Given the description of an element on the screen output the (x, y) to click on. 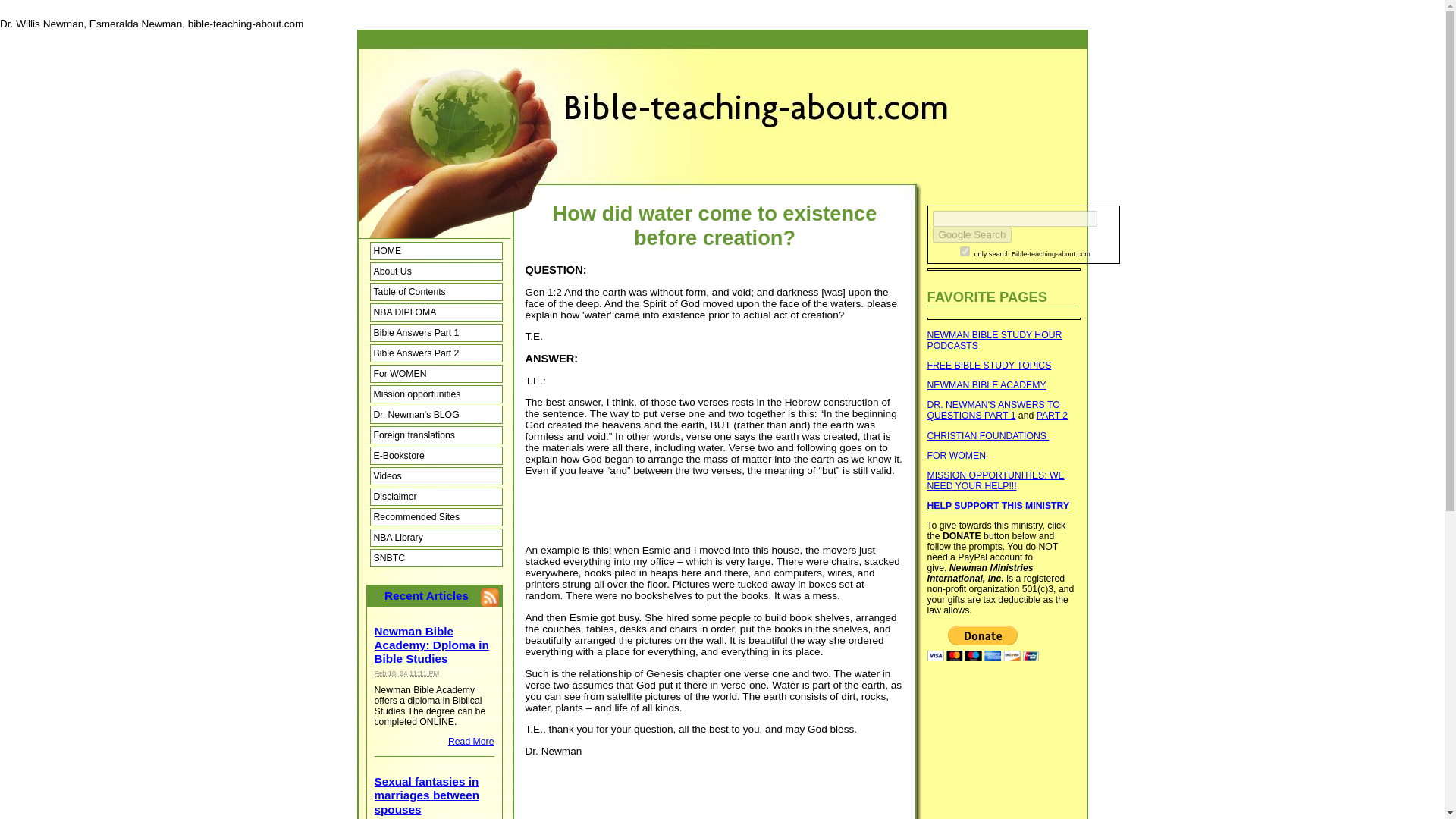
Mission opportunities (435, 393)
Bible Answers Part 2 (435, 352)
Recommended Sites (435, 516)
HOME (435, 250)
NEWMAN BIBLE STUDY HOUR PODCASTS (993, 340)
Bible Answers Part 1 (435, 332)
NEWMAN BIBLE ACADEMY (985, 385)
Table of Contents (435, 291)
E-Bookstore (435, 455)
Recent Articles (426, 594)
